Given the description of an element on the screen output the (x, y) to click on. 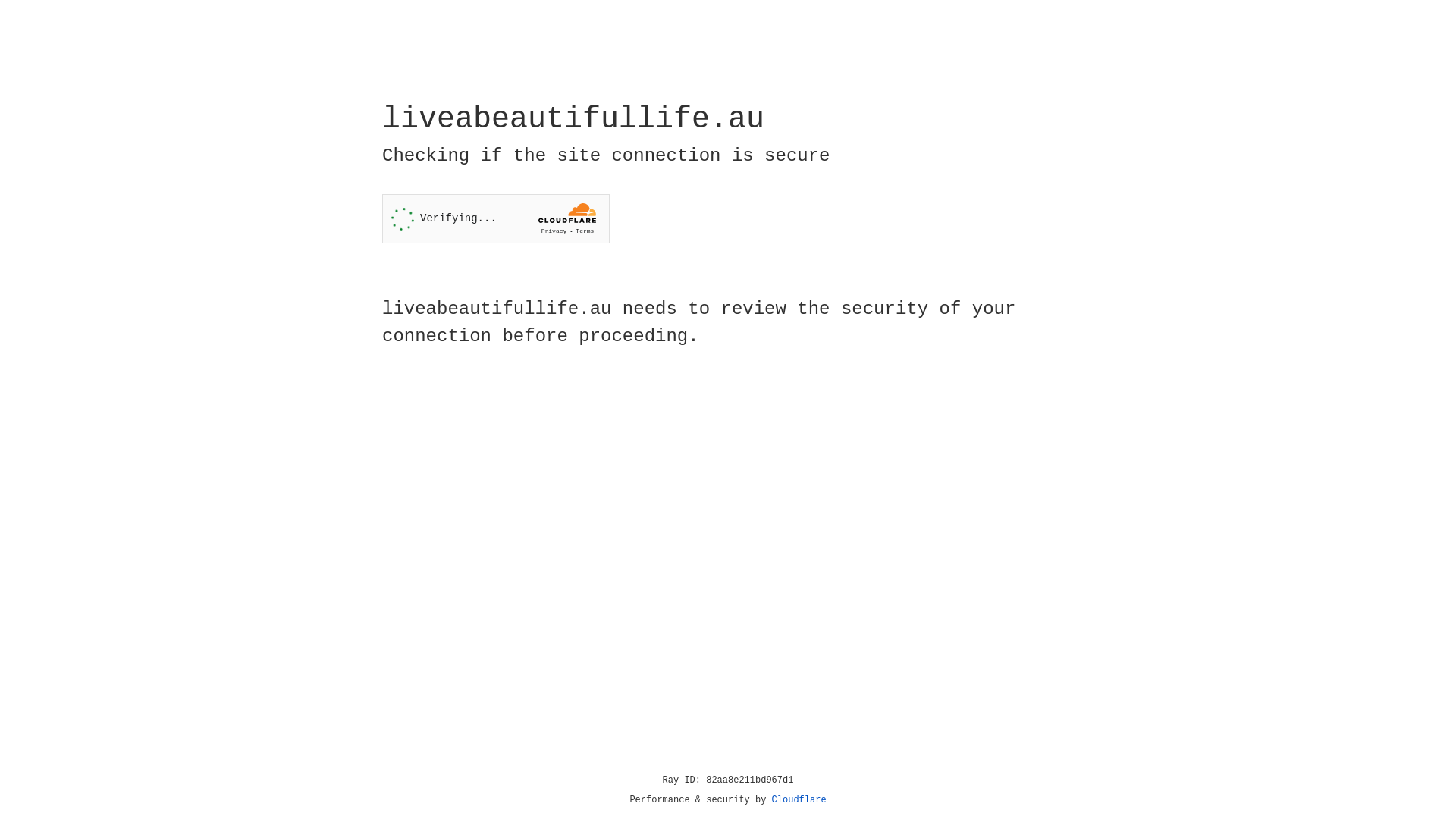
Cloudflare Element type: text (798, 799)
Widget containing a Cloudflare security challenge Element type: hover (495, 218)
